Given the description of an element on the screen output the (x, y) to click on. 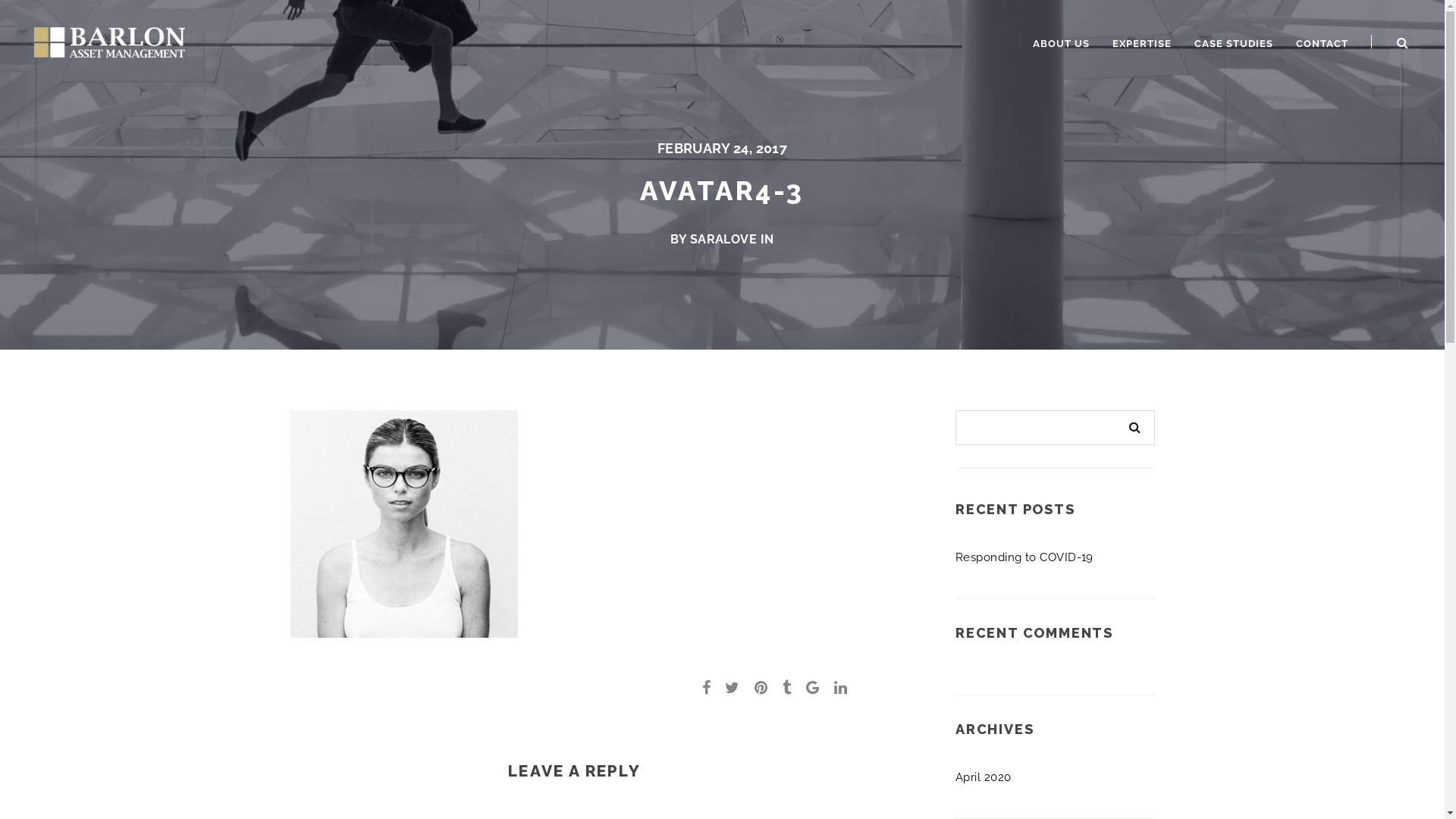
April 2020 Element type: text (983, 777)
Responding to COVID-19 Element type: text (1024, 557)
CASE STUDIES Element type: text (1233, 43)
CONTACT Element type: text (1321, 43)
Barlon Asset Management Element type: hover (109, 40)
Search Element type: text (1135, 427)
ABOUT US Element type: text (1061, 43)
EXPERTISE Element type: text (1142, 43)
